Given the description of an element on the screen output the (x, y) to click on. 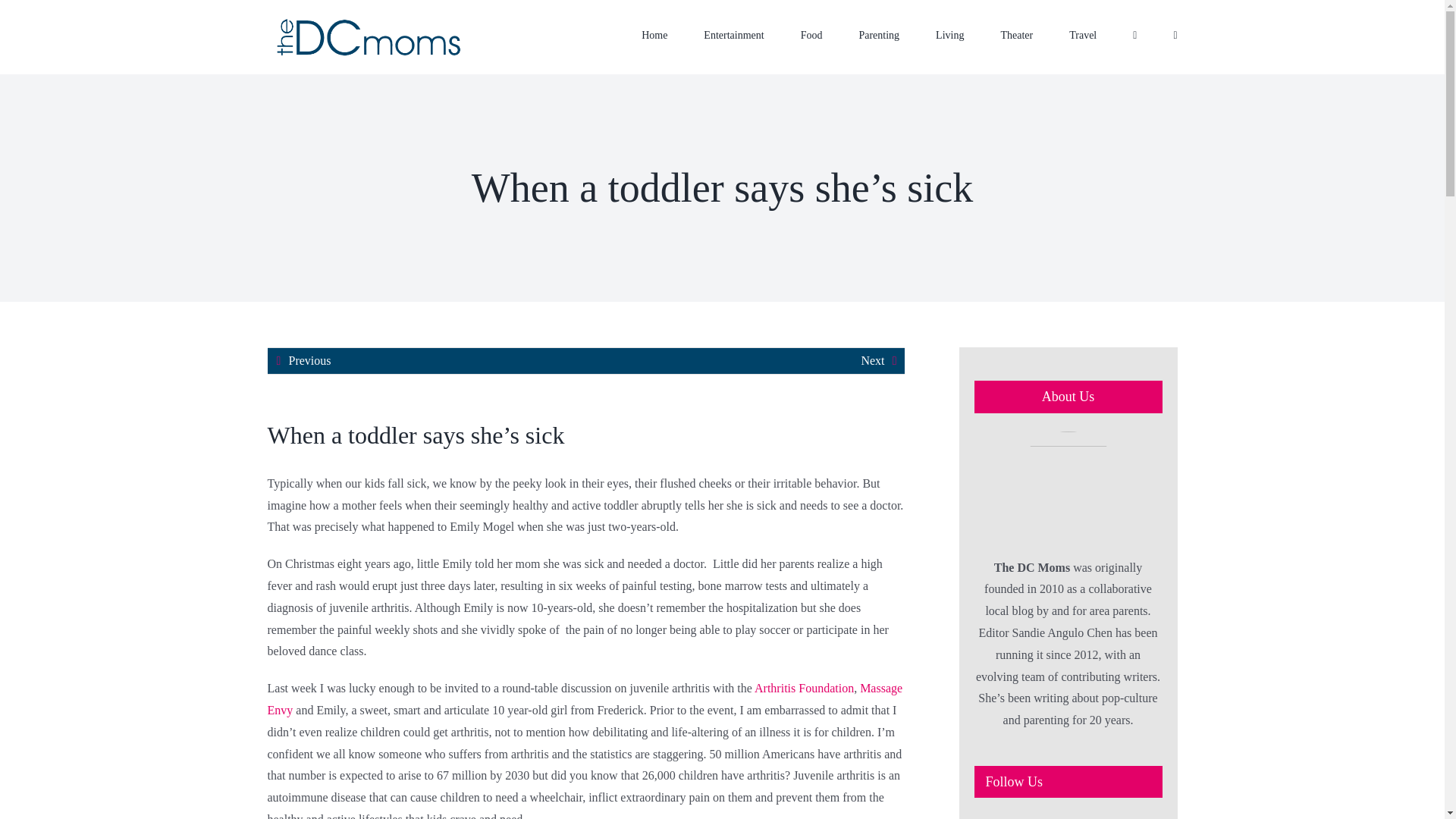
Next (871, 360)
Massage Envy (584, 698)
Arthritis Foundation (803, 687)
Previous (309, 360)
